Given the description of an element on the screen output the (x, y) to click on. 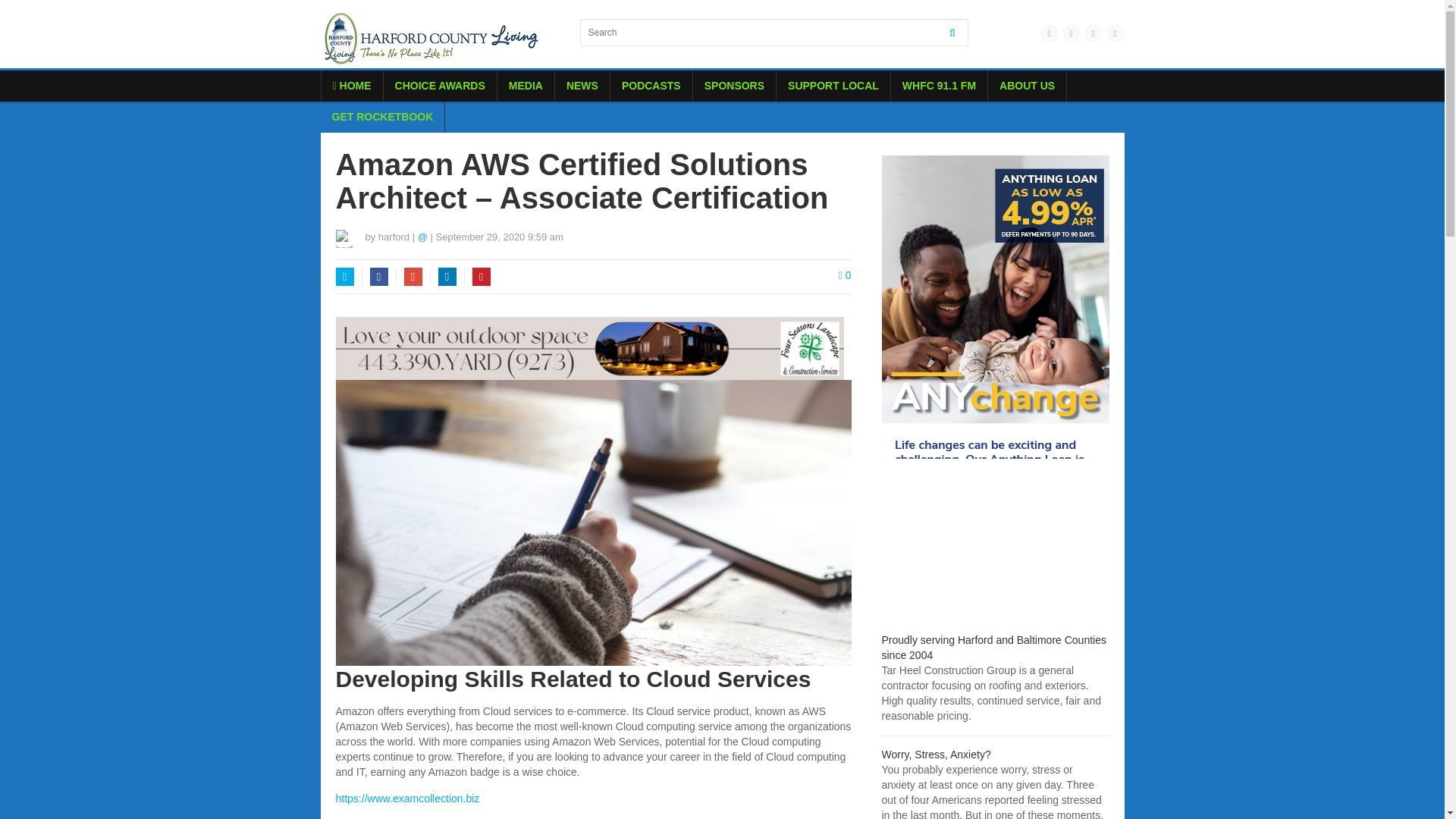
PODCASTS (651, 85)
CHOICE AWARDS (440, 85)
MEDIA (525, 85)
SUPPORT LOCAL (832, 85)
LinkedIn (447, 276)
WHFC 91.1 FM (939, 85)
Tar Heel Construction Group (992, 646)
Pinterest (480, 276)
Twitter (343, 276)
HOME (351, 85)
Facebook (378, 276)
0 (844, 275)
SPONSORS (734, 85)
Harford County Health Department (935, 754)
harford (393, 236)
